Given the description of an element on the screen output the (x, y) to click on. 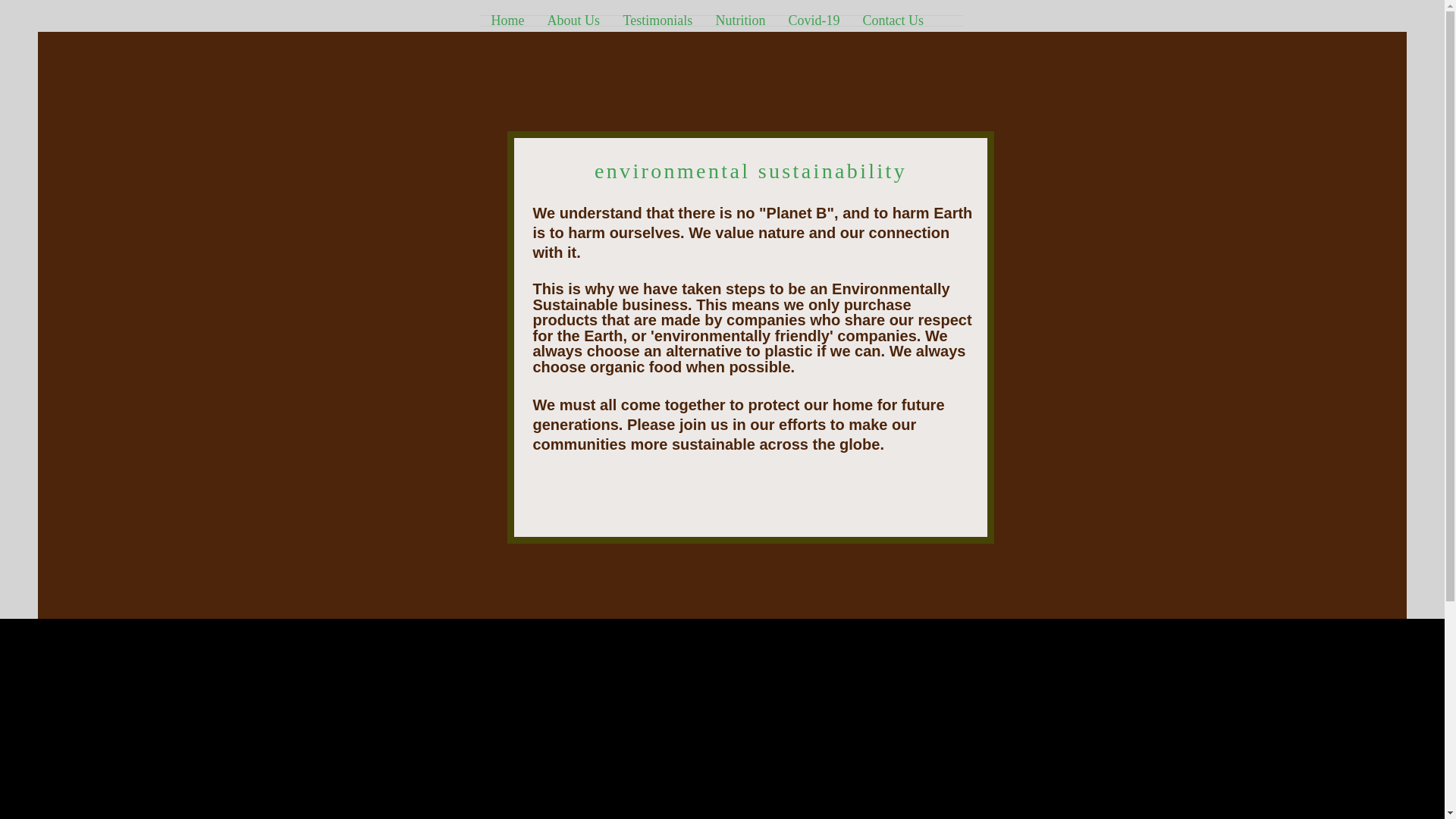
Testimonials (657, 20)
Covid-19 (813, 20)
Contact Us (892, 20)
Nutrition (739, 20)
Home (507, 20)
About Us (573, 20)
